Given the description of an element on the screen output the (x, y) to click on. 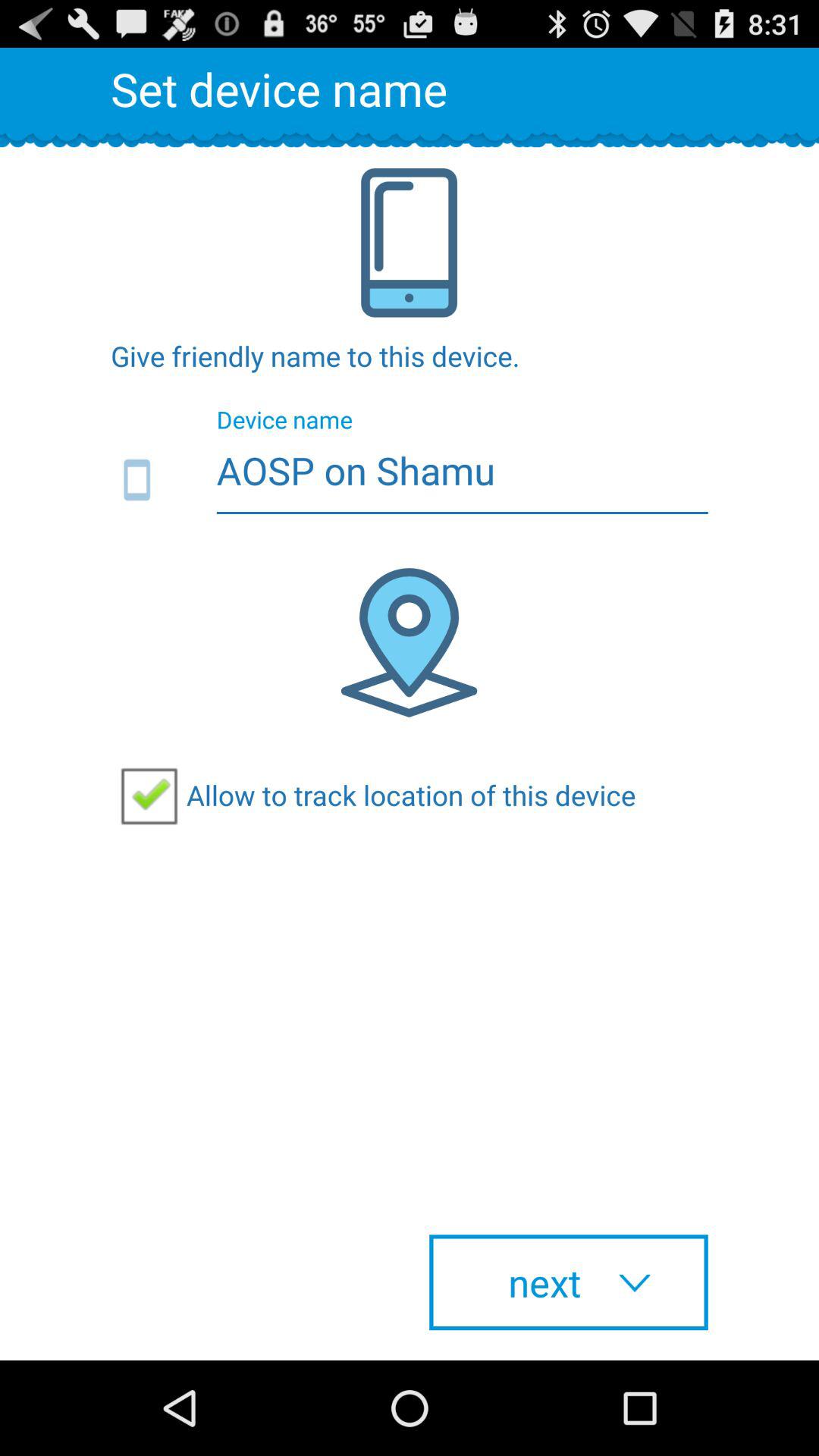
tap the allow to track checkbox (372, 794)
